Given the description of an element on the screen output the (x, y) to click on. 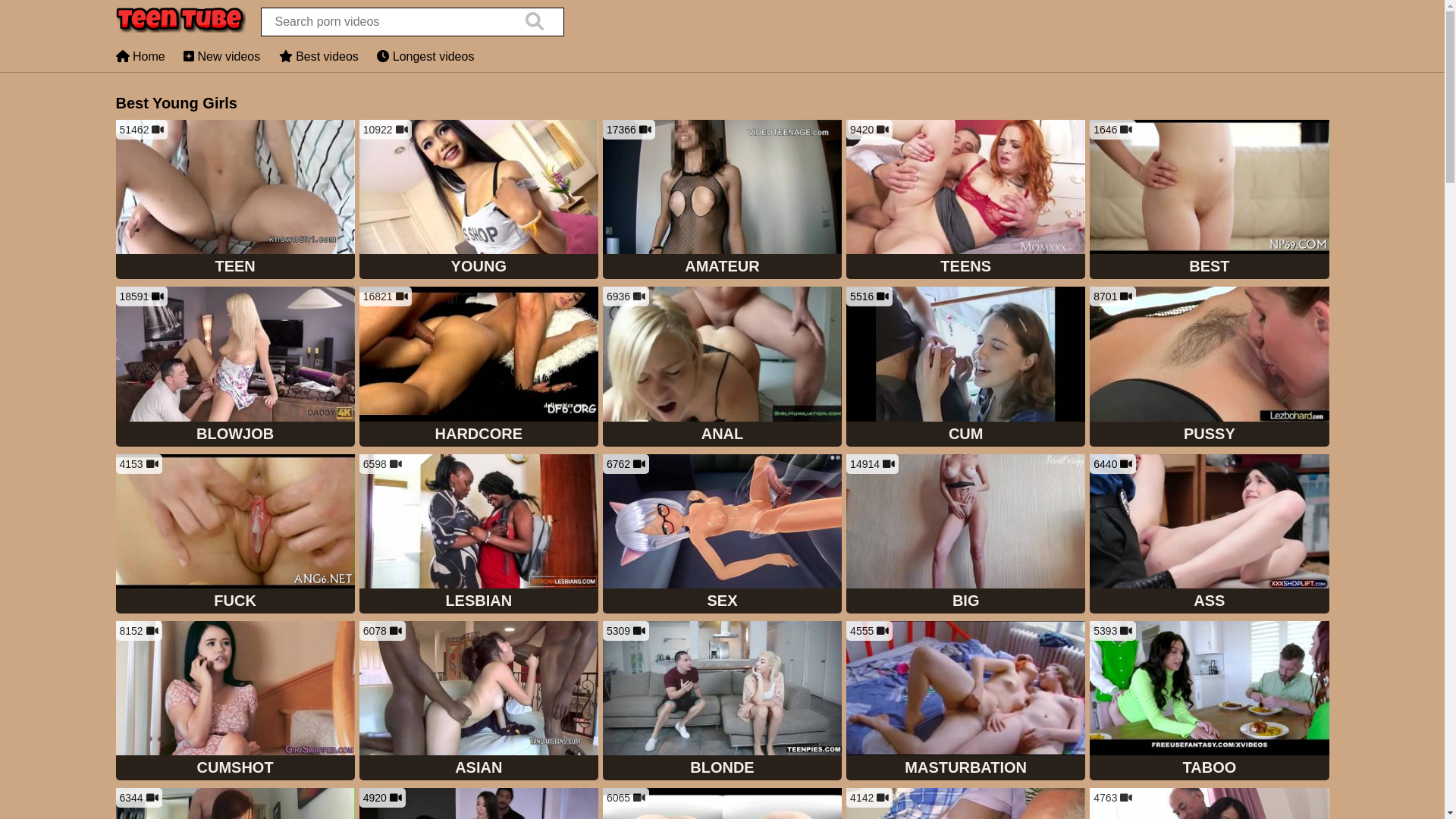
8152
CUMSHOT Element type: text (234, 702)
4555
MASTURBATION Element type: text (965, 702)
16821
HARDCORE Element type: text (478, 367)
Best videos Element type: text (318, 56)
9420
TEENS Element type: text (965, 200)
17366
AMATEUR Element type: text (721, 200)
5309
BLONDE Element type: text (721, 702)
4153
FUCK Element type: text (234, 535)
New videos Element type: text (221, 56)
10922
YOUNG Element type: text (478, 200)
18591
BLOWJOB Element type: text (234, 367)
8701
PUSSY Element type: text (1208, 367)
6762
SEX Element type: text (721, 535)
Home Element type: text (139, 56)
5393
TABOO Element type: text (1208, 702)
6936
ANAL Element type: text (721, 367)
1646
BEST Element type: text (1208, 200)
6440
ASS Element type: text (1208, 535)
5516
CUM Element type: text (965, 367)
Longest videos Element type: text (424, 56)
6078
ASIAN Element type: text (478, 702)
6598
LESBIAN Element type: text (478, 535)
14914
BIG Element type: text (965, 535)
51462
TEEN Element type: text (234, 200)
